Given the description of an element on the screen output the (x, y) to click on. 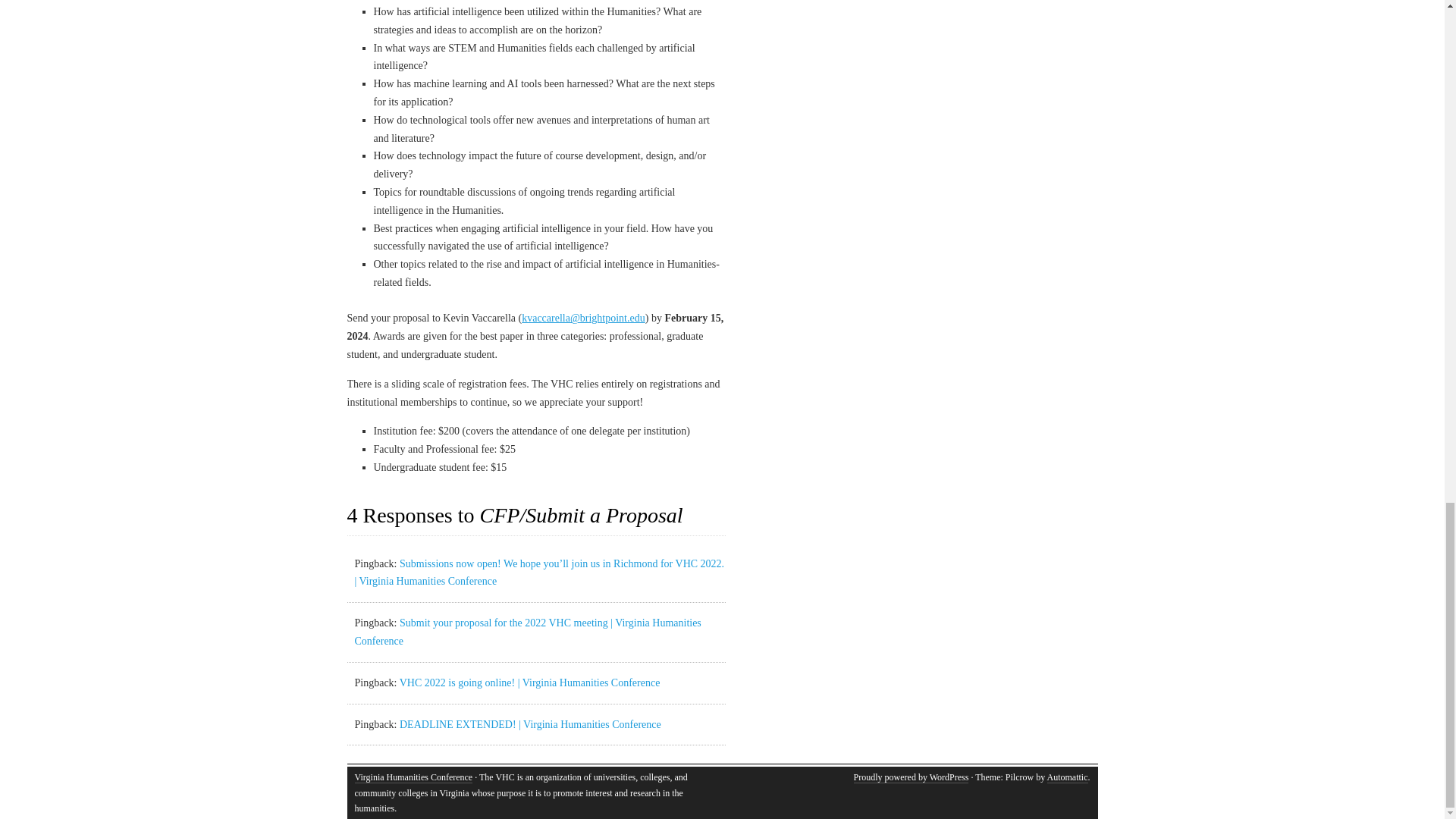
Virginia Humanities Conference (414, 777)
Automattic (1066, 777)
A Semantic Personal Publishing Platform (911, 777)
Proudly powered by WordPress (911, 777)
Virginia Humanities Conference (414, 777)
